Given the description of an element on the screen output the (x, y) to click on. 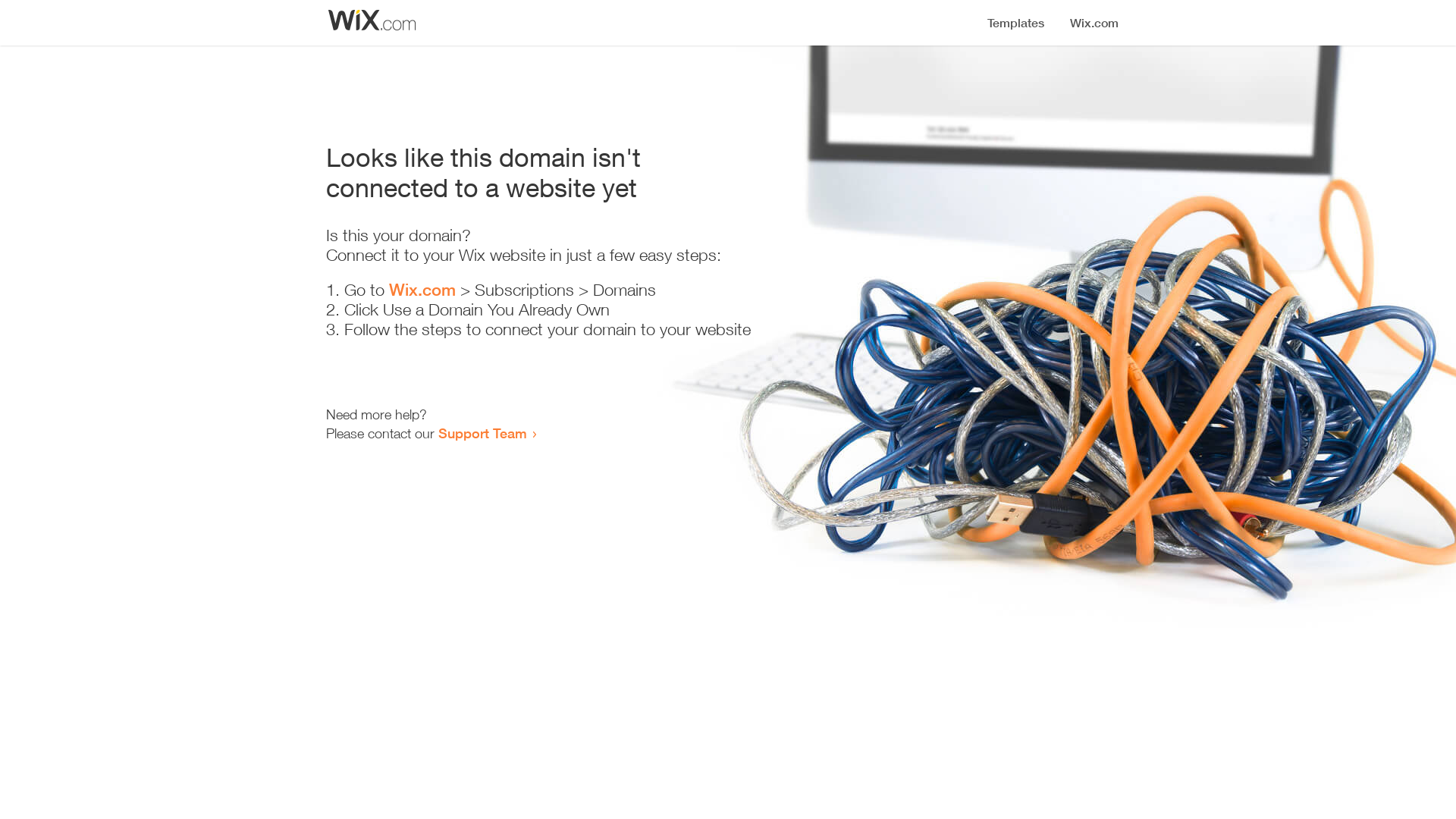
Wix.com Element type: text (422, 289)
Support Team Element type: text (482, 432)
